Given the description of an element on the screen output the (x, y) to click on. 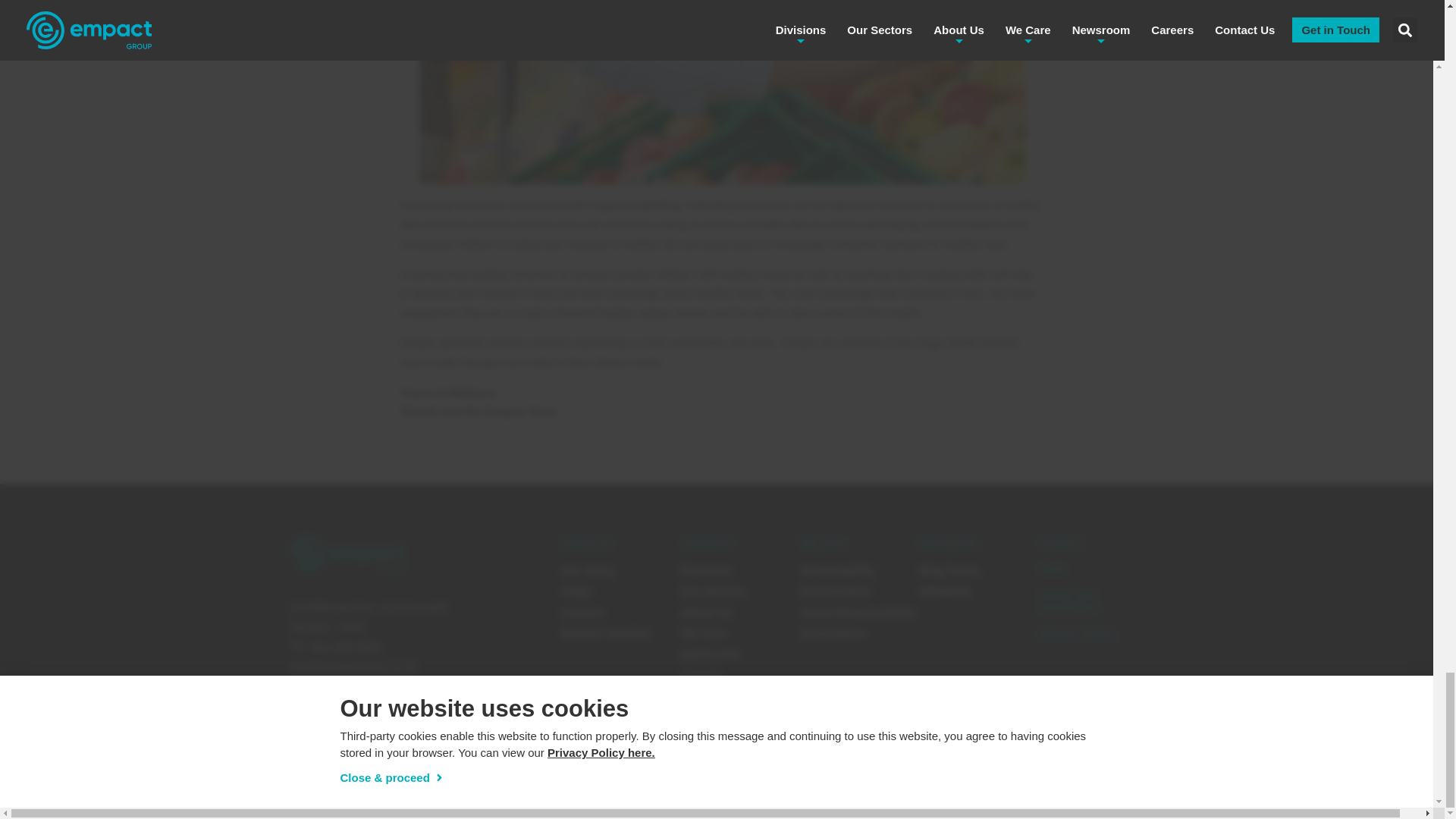
011 209 2400 (345, 645)
About Us (587, 542)
